Given the description of an element on the screen output the (x, y) to click on. 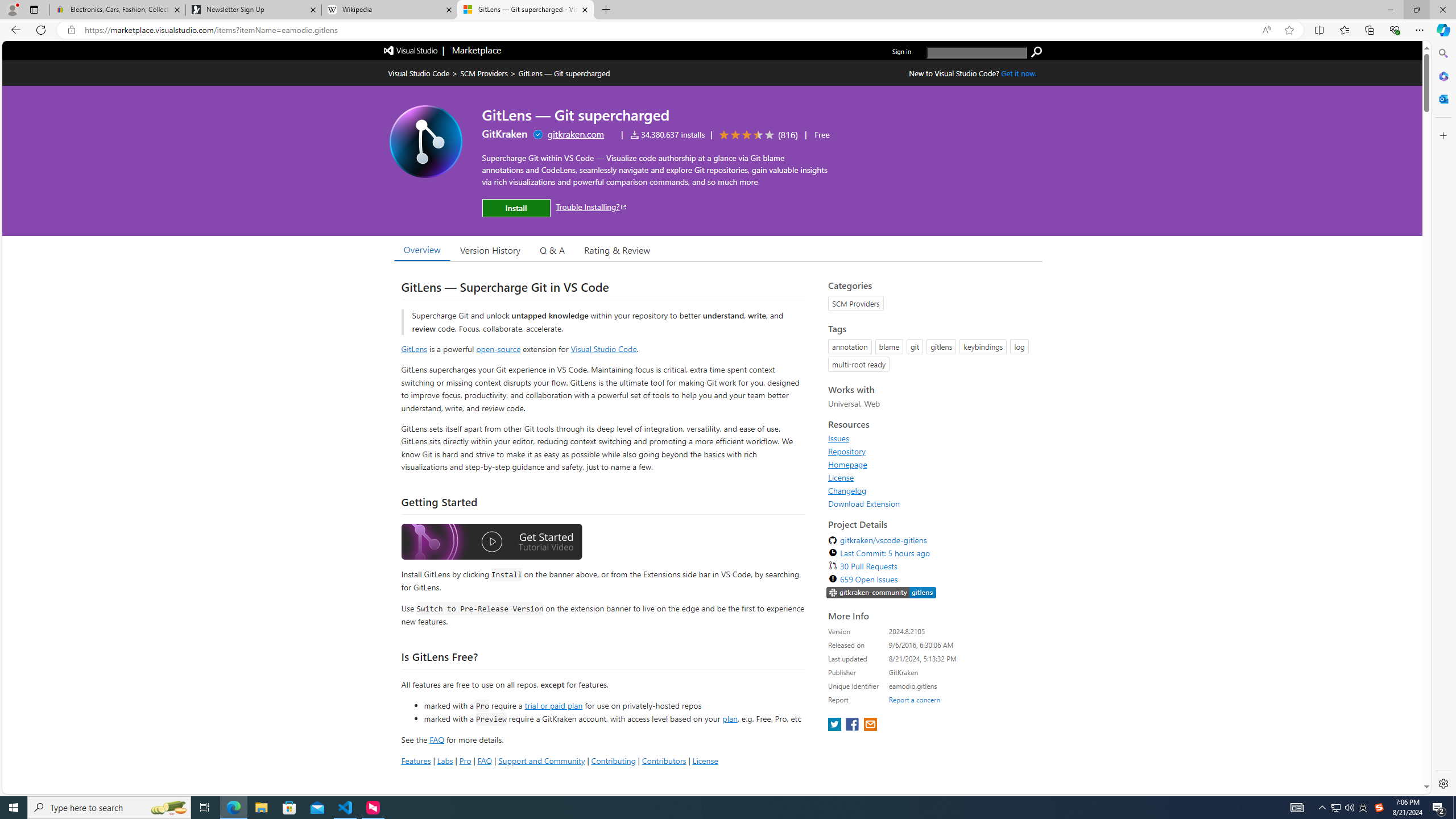
Homepage (931, 464)
Watch the GitLens Getting Started video (491, 543)
